Given the description of an element on the screen output the (x, y) to click on. 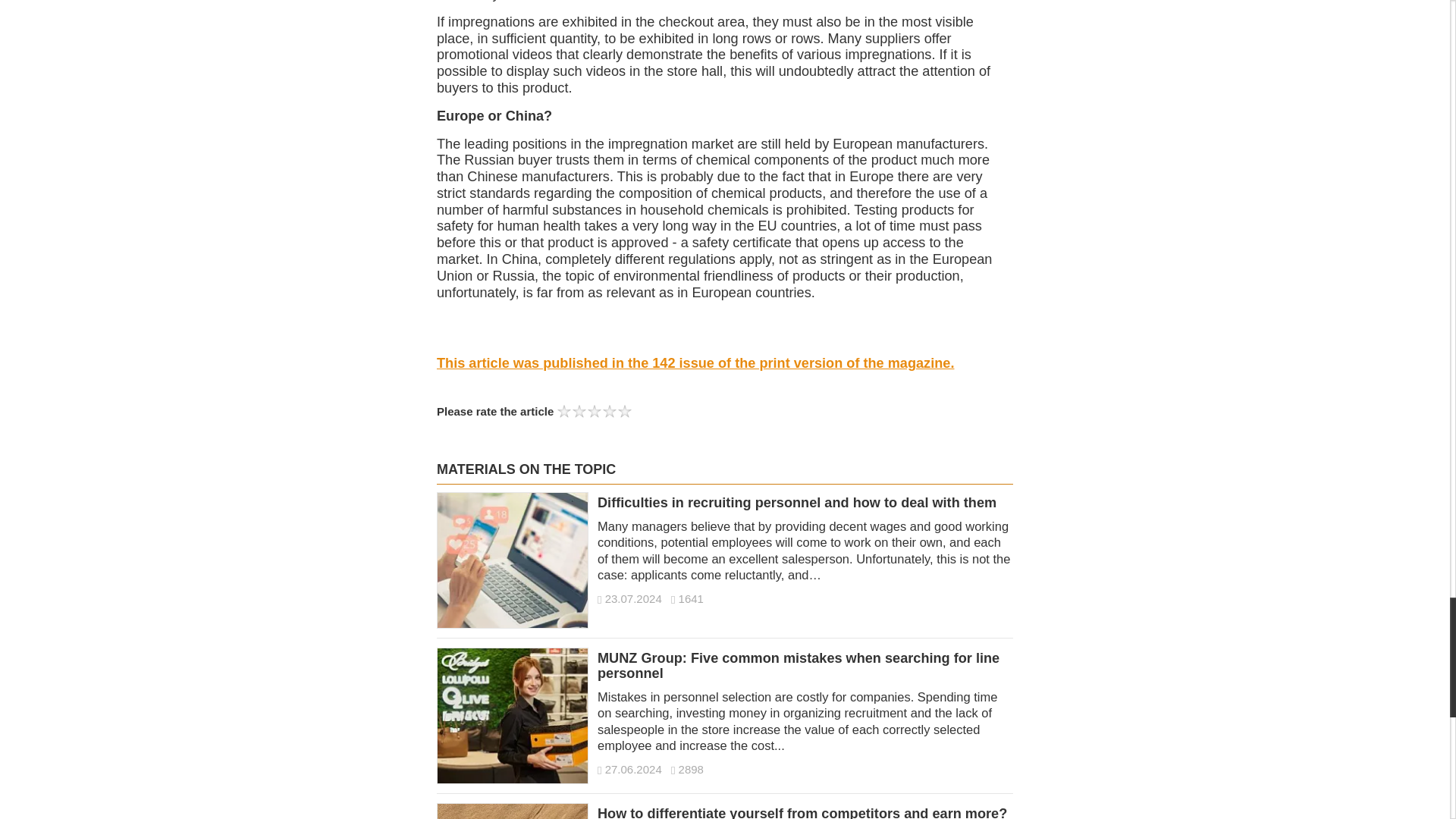
3 (595, 410)
4 (609, 410)
1 (564, 410)
5 (625, 410)
2 (580, 410)
